Given the description of an element on the screen output the (x, y) to click on. 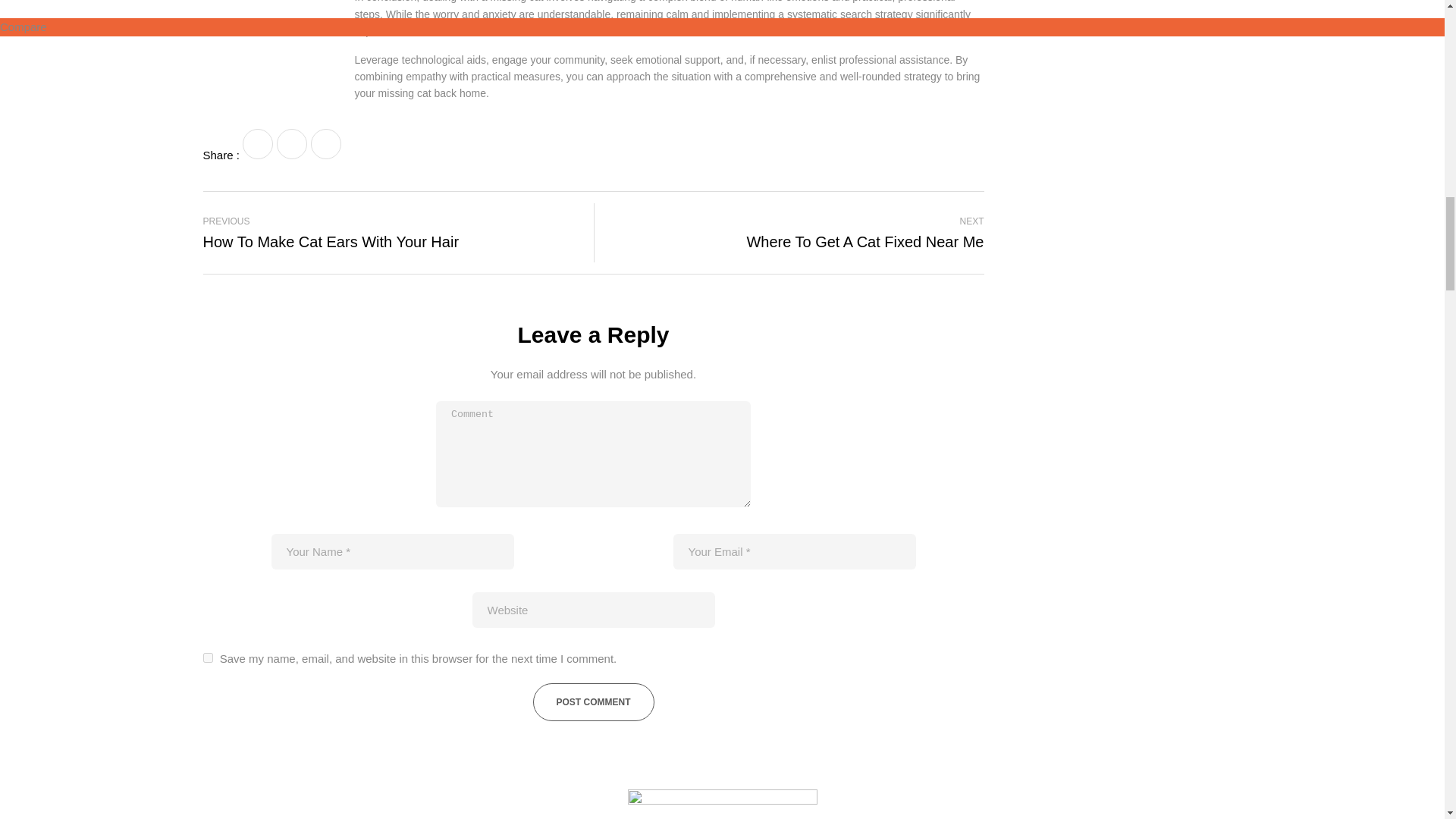
Twitter (392, 232)
Facebook (794, 232)
LinkedIn (291, 143)
yes (258, 143)
Post Comment (325, 143)
